Given the description of an element on the screen output the (x, y) to click on. 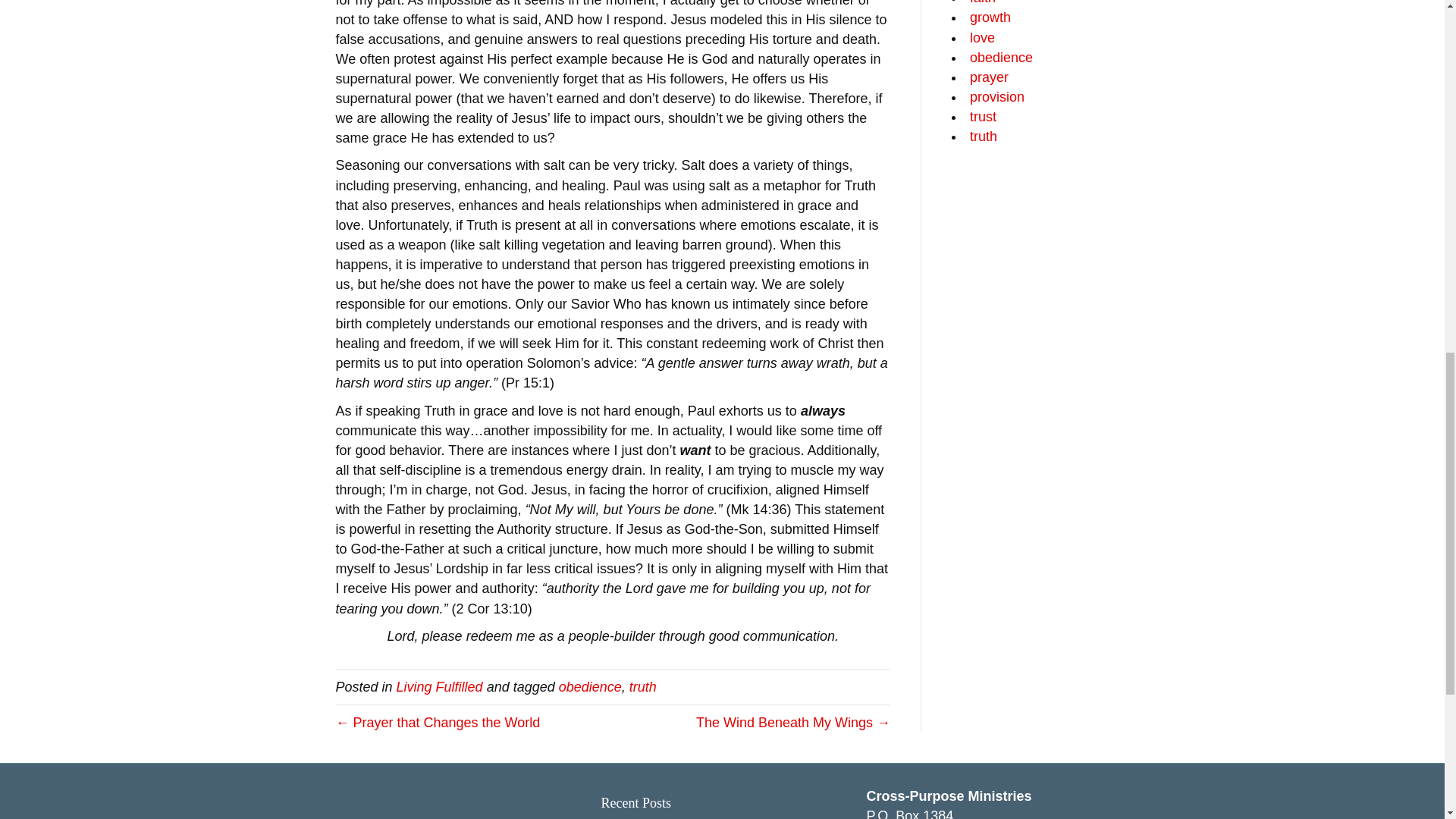
truth (642, 614)
Living Fulfilled (439, 614)
obedience (590, 614)
